Given the description of an element on the screen output the (x, y) to click on. 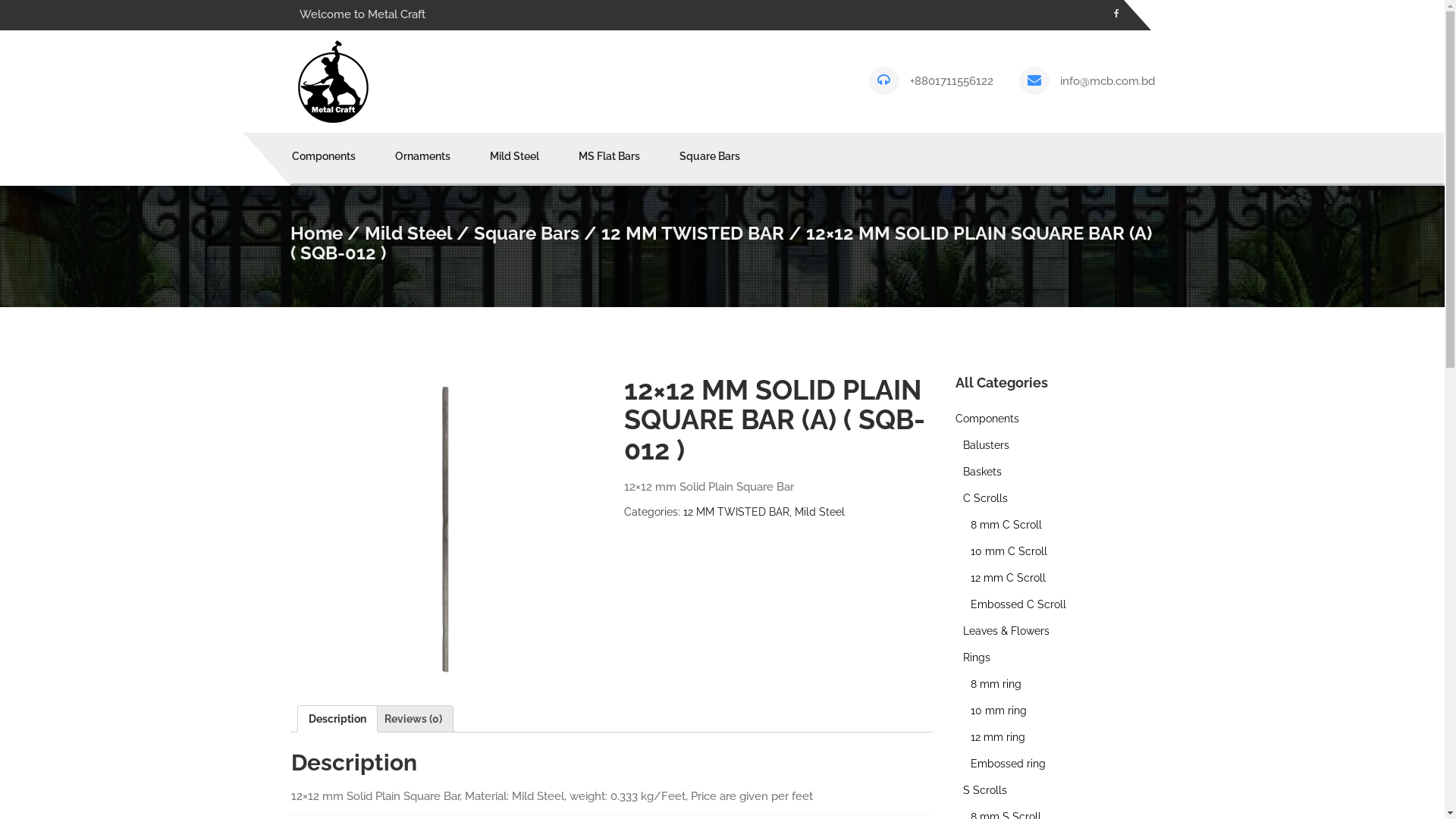
Balusters Element type: text (986, 445)
Leaves & Flowers Element type: text (1006, 630)
Square Bars Element type: text (699, 155)
Components Element type: text (332, 155)
Components Element type: text (987, 418)
S Scrolls Element type: text (985, 790)
Mild Steel Element type: text (514, 155)
Baskets Element type: text (982, 471)
12 mm ring Element type: text (997, 737)
Embossed ring Element type: text (1007, 763)
+8801711556122 Element type: text (951, 80)
12 mm C Scroll Element type: text (1007, 577)
12 MM TWISTED BAR Element type: text (691, 233)
sqb-012_1 Element type: hover (443, 529)
Mild Steel Element type: text (819, 511)
Mild Steel Element type: text (407, 233)
Home Element type: text (315, 233)
12 MM TWISTED BAR Element type: text (736, 511)
Metal Craft Bangladesh Element type: hover (332, 80)
8 mm ring Element type: text (995, 683)
Facebook Element type: hover (1115, 13)
Ornaments Element type: text (421, 155)
Embossed C Scroll Element type: text (1018, 604)
Reviews (0) Element type: text (412, 718)
8 mm C Scroll Element type: text (1005, 524)
C Scrolls Element type: text (985, 498)
10 mm C Scroll Element type: text (1008, 551)
Description Element type: text (336, 718)
10 mm ring Element type: text (998, 710)
info@mcb.com.bd Element type: text (1107, 80)
Square Bars Element type: text (525, 233)
Rings Element type: text (976, 657)
MS Flat Bars Element type: text (608, 155)
